Given the description of an element on the screen output the (x, y) to click on. 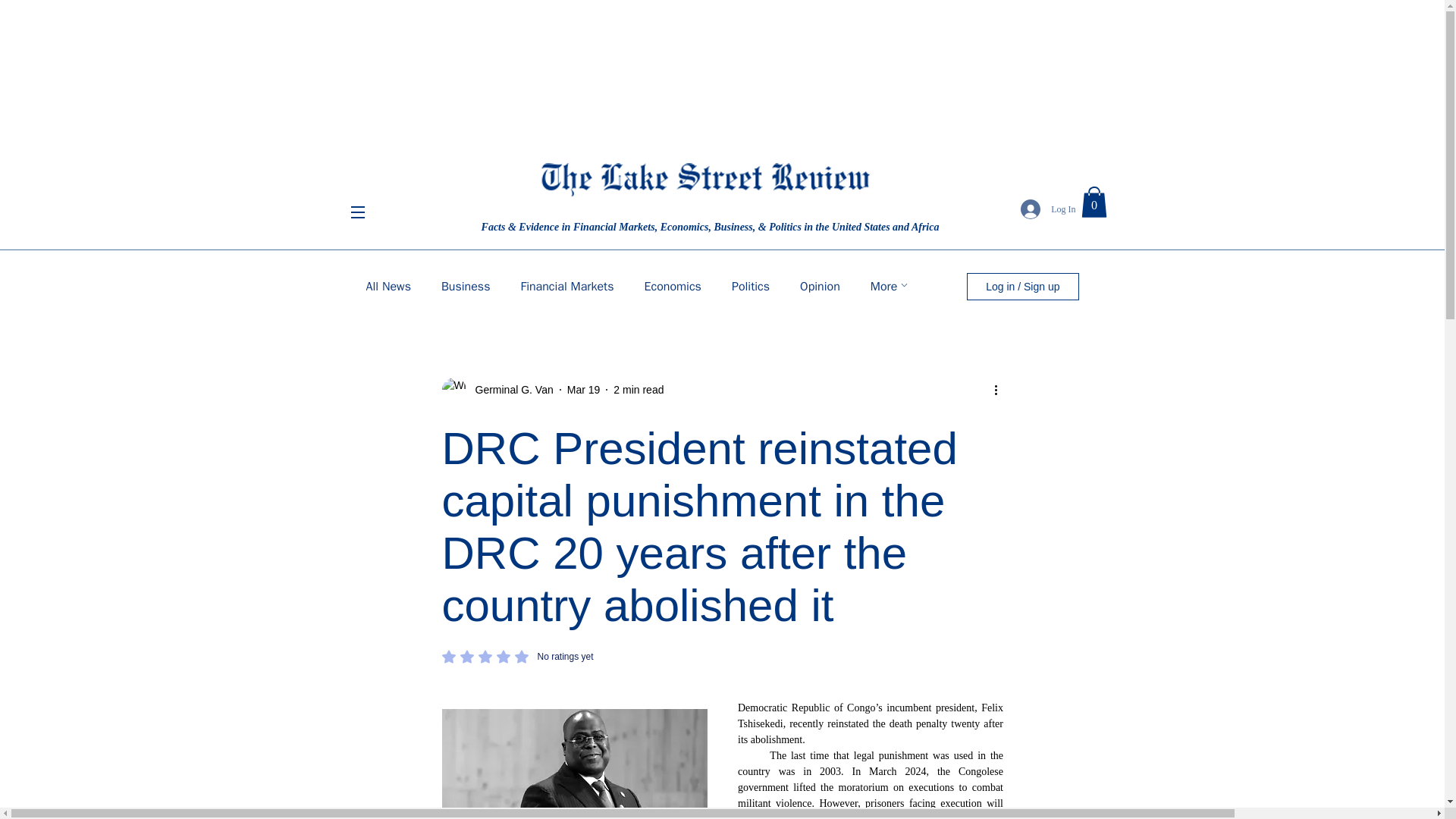
Business (465, 286)
Germinal G. Van (509, 390)
Log In (1048, 208)
Germinal G. Van (516, 656)
0 (497, 389)
0 (1093, 201)
Politics (1093, 201)
Mar 19 (751, 286)
Financial Markets (583, 389)
All News (565, 286)
Economics (387, 286)
Opinion (673, 286)
2 min read (819, 286)
